Given the description of an element on the screen output the (x, y) to click on. 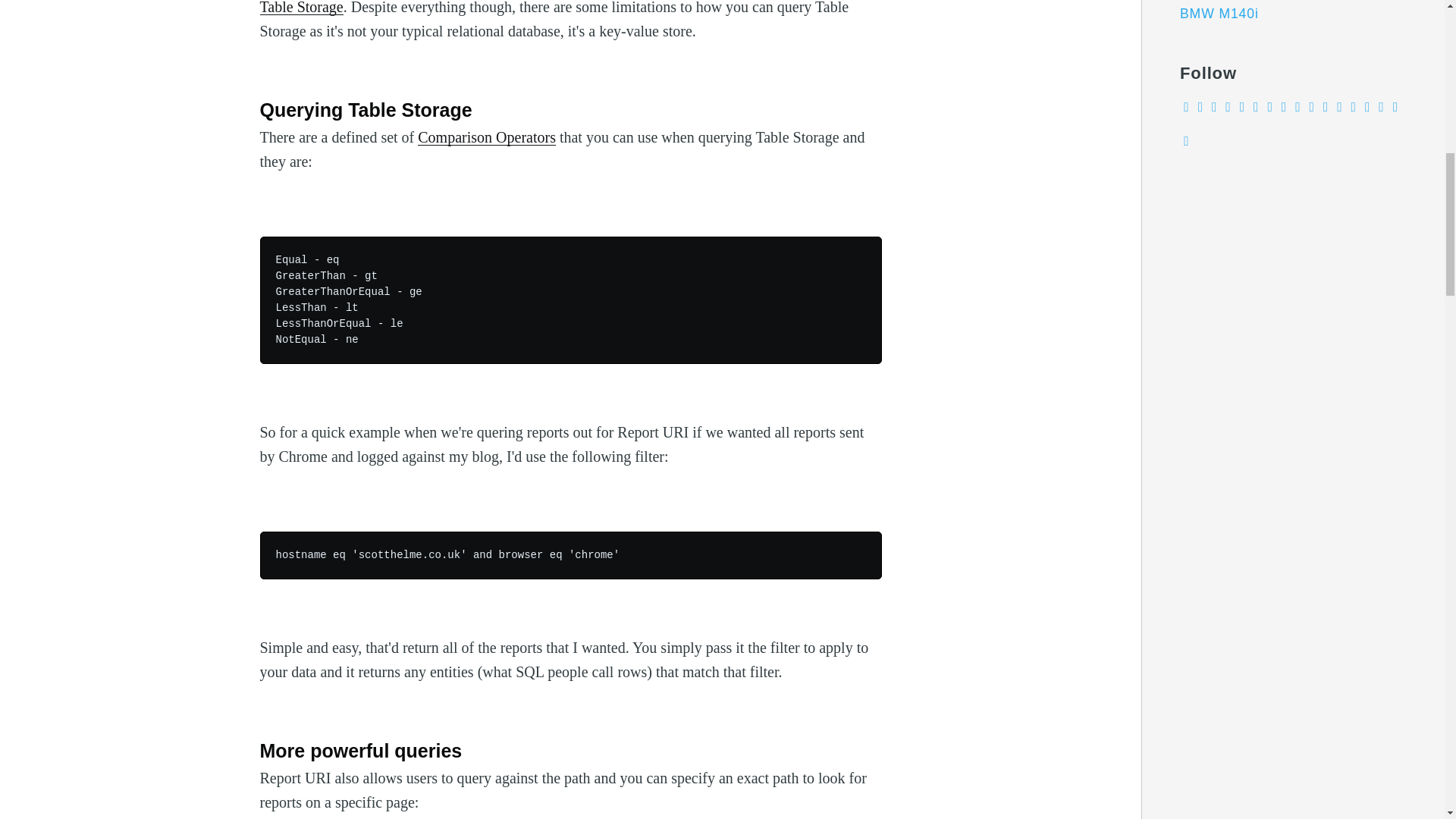
Comparison Operators (486, 136)
Optimising for performance with Azure Table Storage (563, 7)
